Given the description of an element on the screen output the (x, y) to click on. 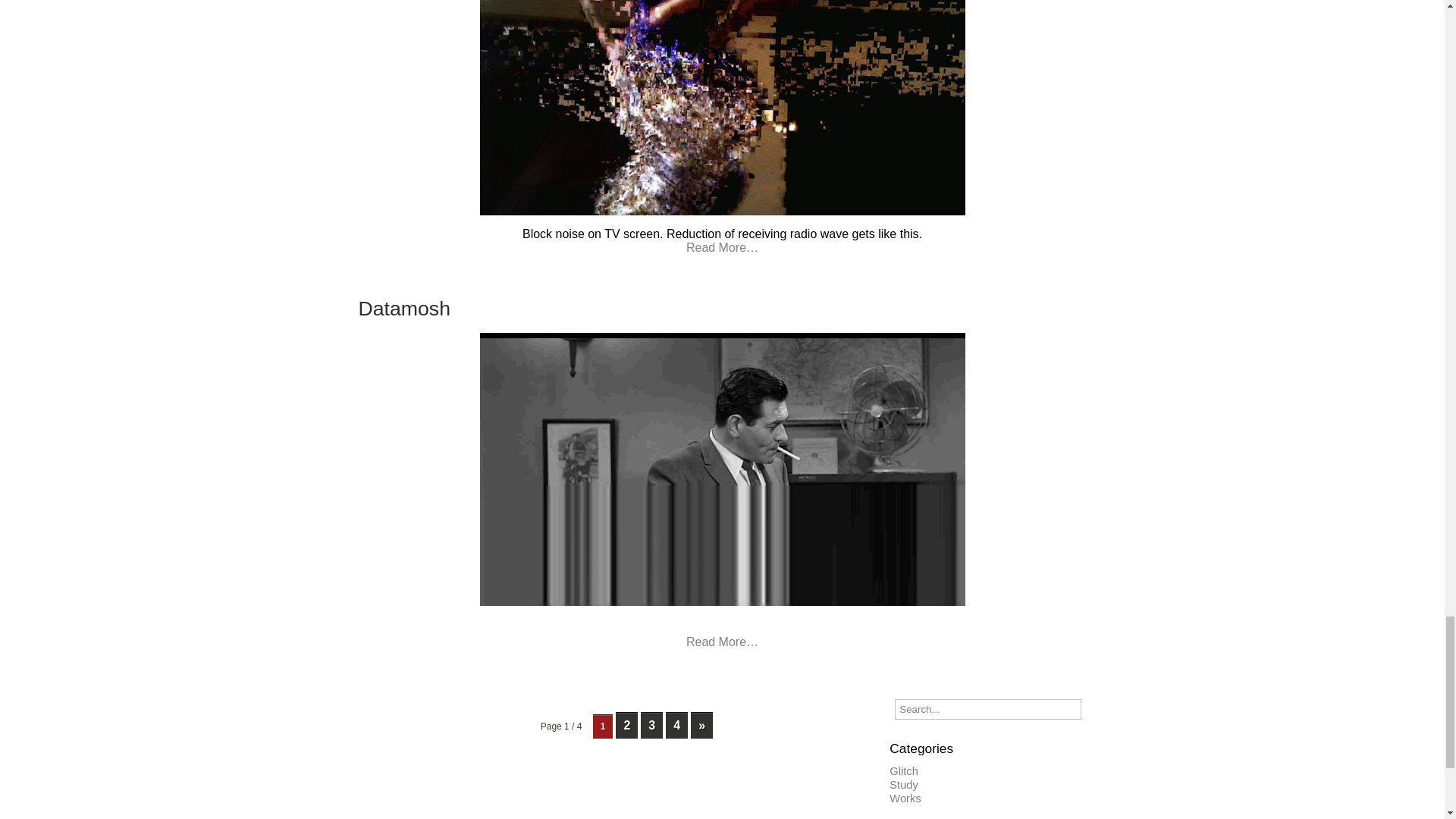
Datamosh (403, 308)
Glitch (903, 770)
Search... (987, 709)
Works (904, 798)
Study (903, 784)
Datamosh (403, 308)
